Given the description of an element on the screen output the (x, y) to click on. 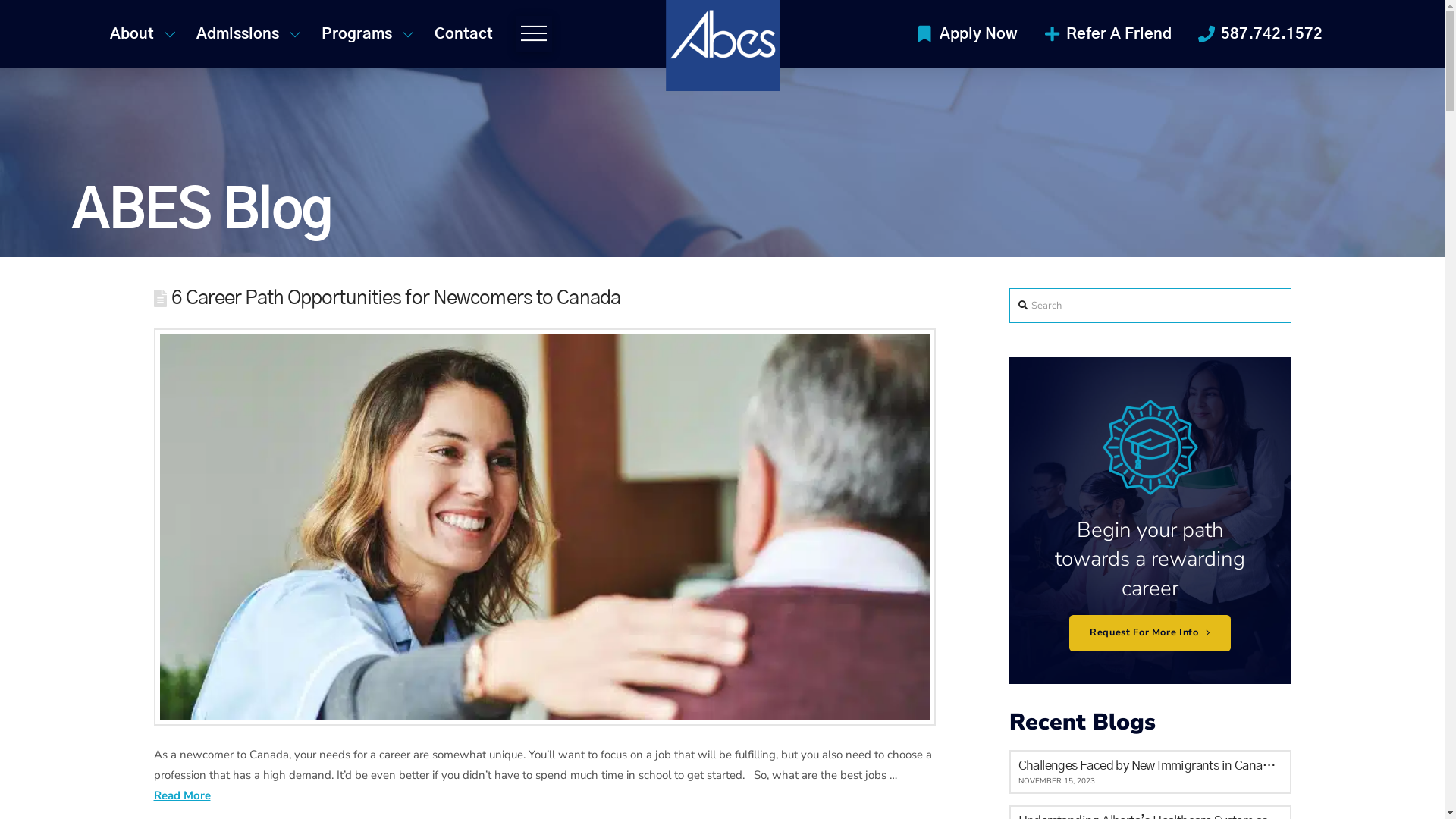
587.742.1572 Element type: text (1259, 34)
Apply Now Element type: text (966, 34)
Read More Element type: text (181, 795)
Request For More Info Element type: text (1150, 633)
6 Career Path Opportunities for Newcomers to Canada Element type: text (395, 297)
Contact Element type: text (467, 34)
About Element type: text (140, 34)
Refer A Friend Element type: text (1107, 34)
Programs Element type: text (365, 34)
Admissions Element type: text (246, 34)
